Given the description of an element on the screen output the (x, y) to click on. 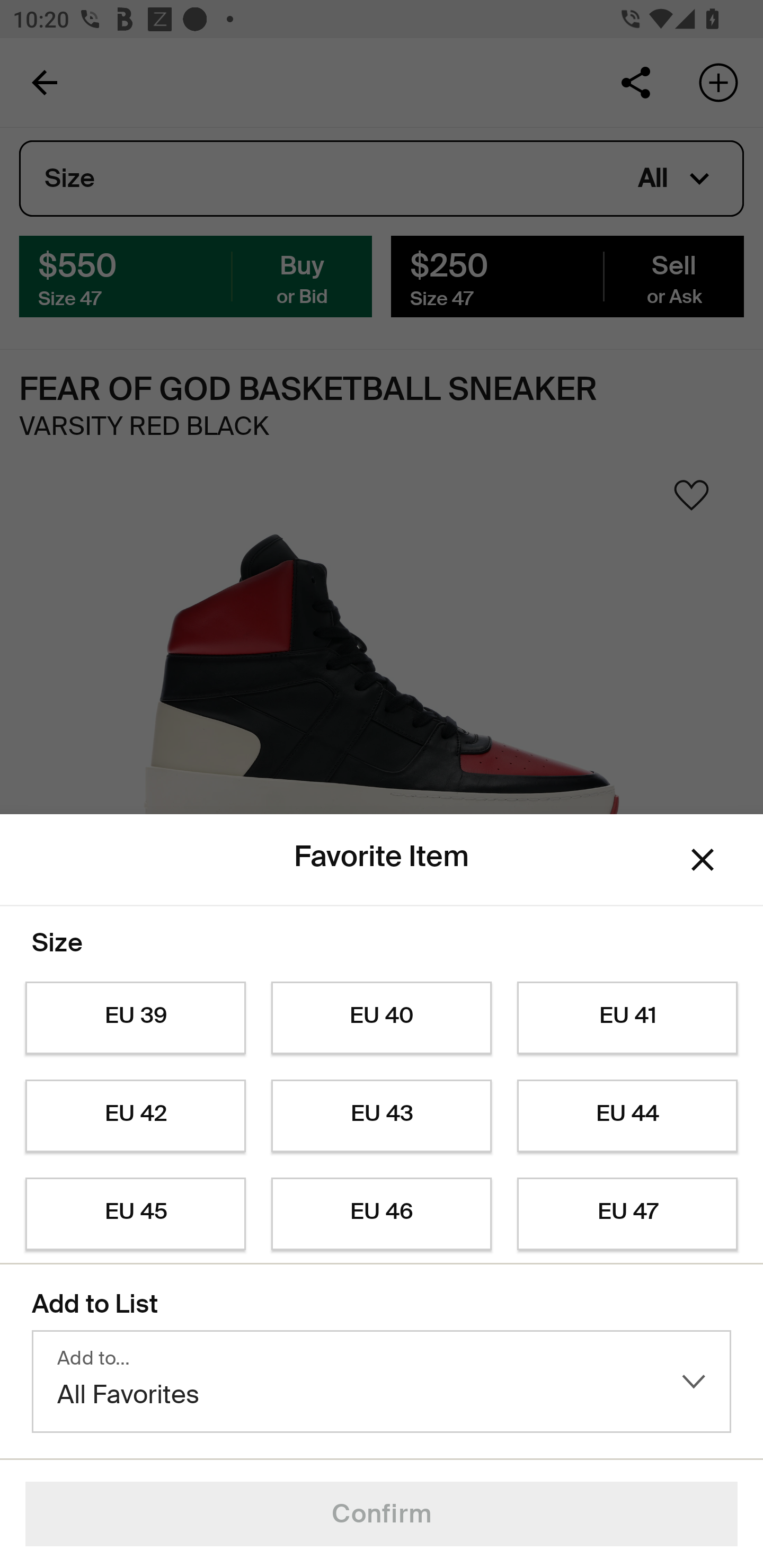
Dismiss (702, 859)
EU 39 (135, 1018)
EU 40 (381, 1018)
EU 41 (627, 1018)
EU 42 (135, 1116)
EU 43 (381, 1116)
EU 44 (627, 1116)
EU 45 (135, 1214)
EU 46 (381, 1214)
EU 47 (627, 1214)
Add to… All Favorites (381, 1381)
Confirm (381, 1513)
